Given the description of an element on the screen output the (x, y) to click on. 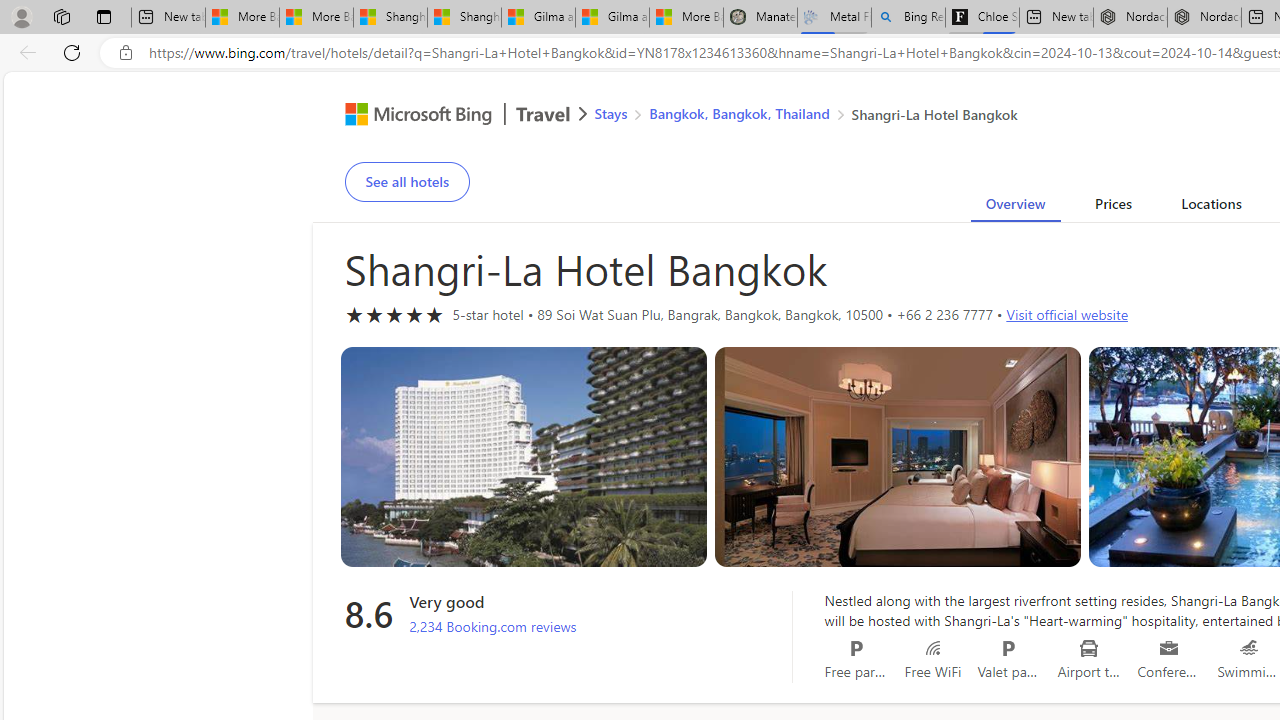
Overview (1015, 207)
Class: msft-travel-logo (543, 114)
AutomationID: bread-crumb-root (793, 116)
Swimming pool (1249, 647)
Airport transportation (1089, 647)
Locations (1211, 207)
Hotel room image (897, 457)
